Given the description of an element on the screen output the (x, y) to click on. 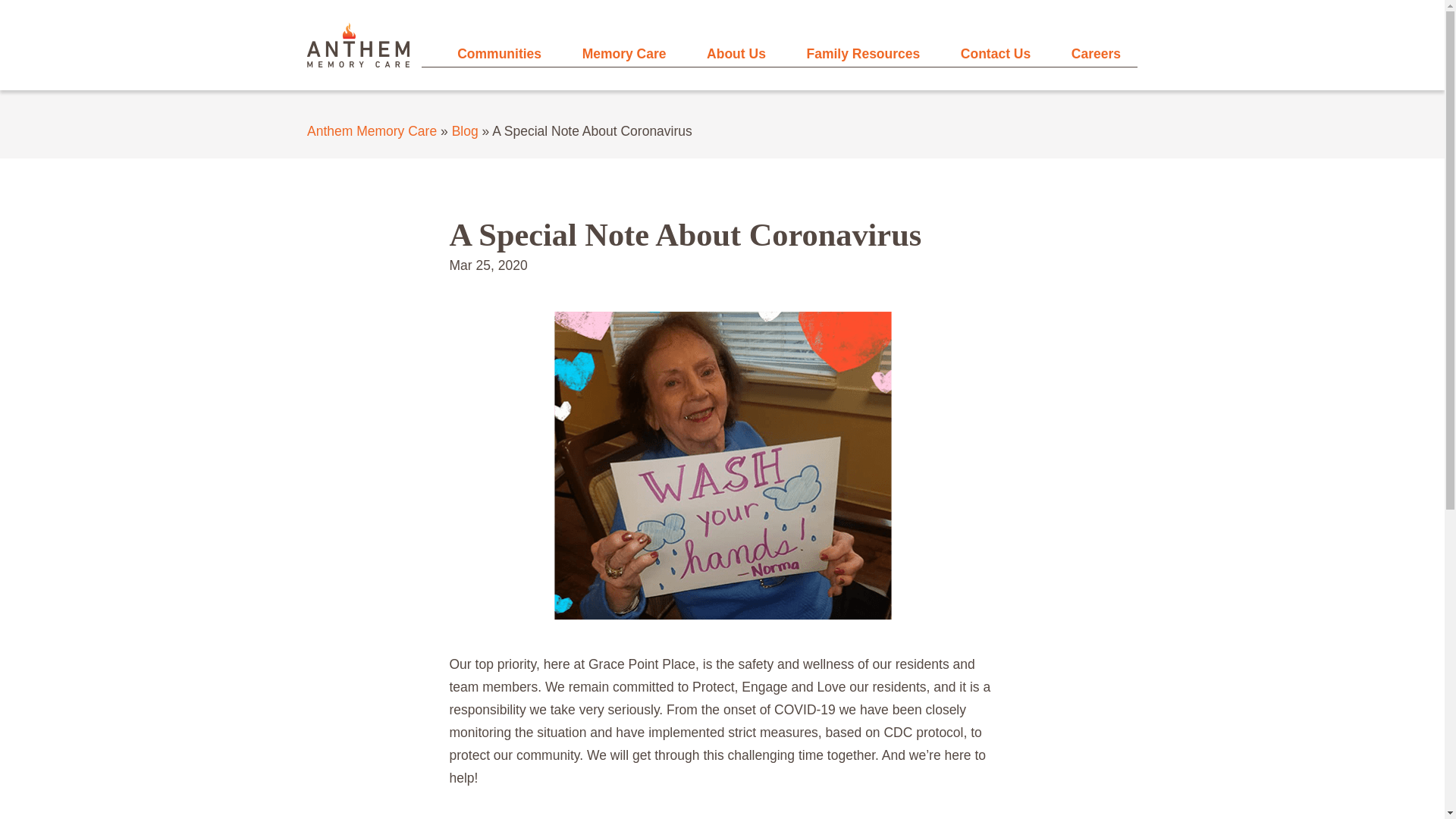
Communities (499, 54)
Careers (1096, 54)
About Us (735, 54)
Memory Care (624, 54)
Family Resources (863, 54)
Anthem Memory Care (371, 130)
Blog (465, 130)
Contact Us (995, 54)
